Given the description of an element on the screen output the (x, y) to click on. 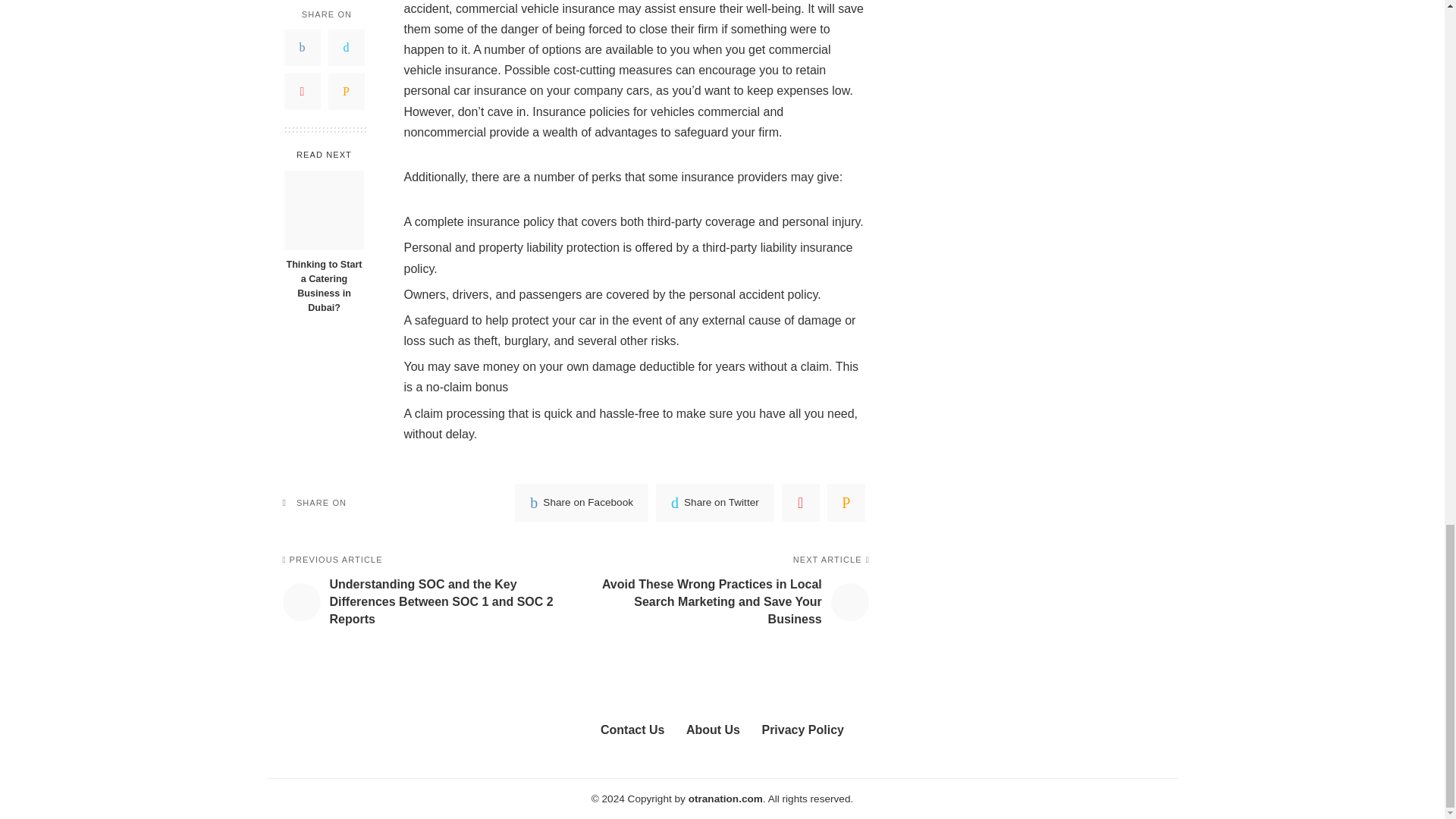
Twitter (715, 502)
Facebook (581, 502)
Share on Facebook (581, 502)
